Given the description of an element on the screen output the (x, y) to click on. 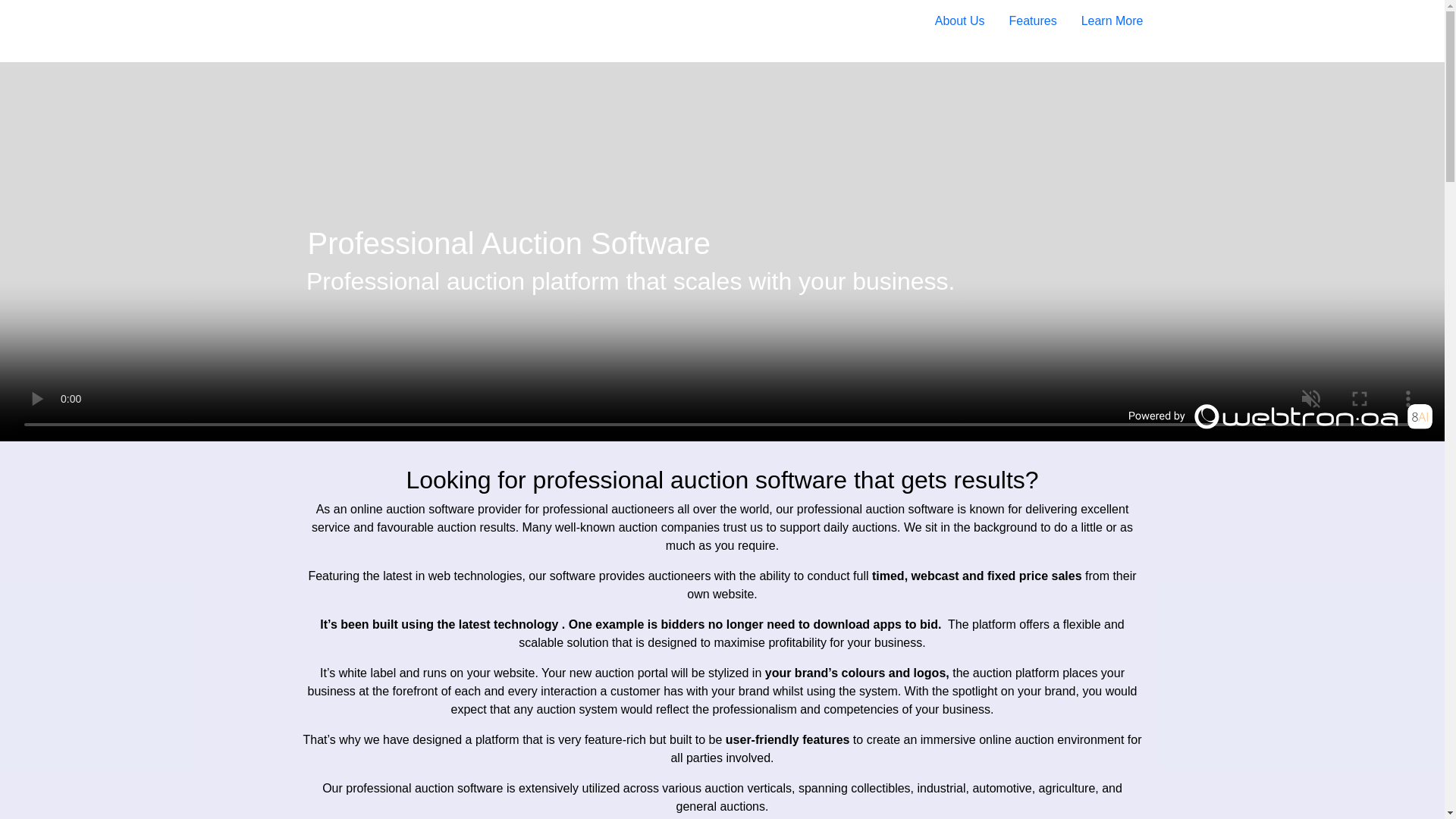
About Us (959, 20)
Features (1033, 20)
Learn More (1111, 20)
